Given the description of an element on the screen output the (x, y) to click on. 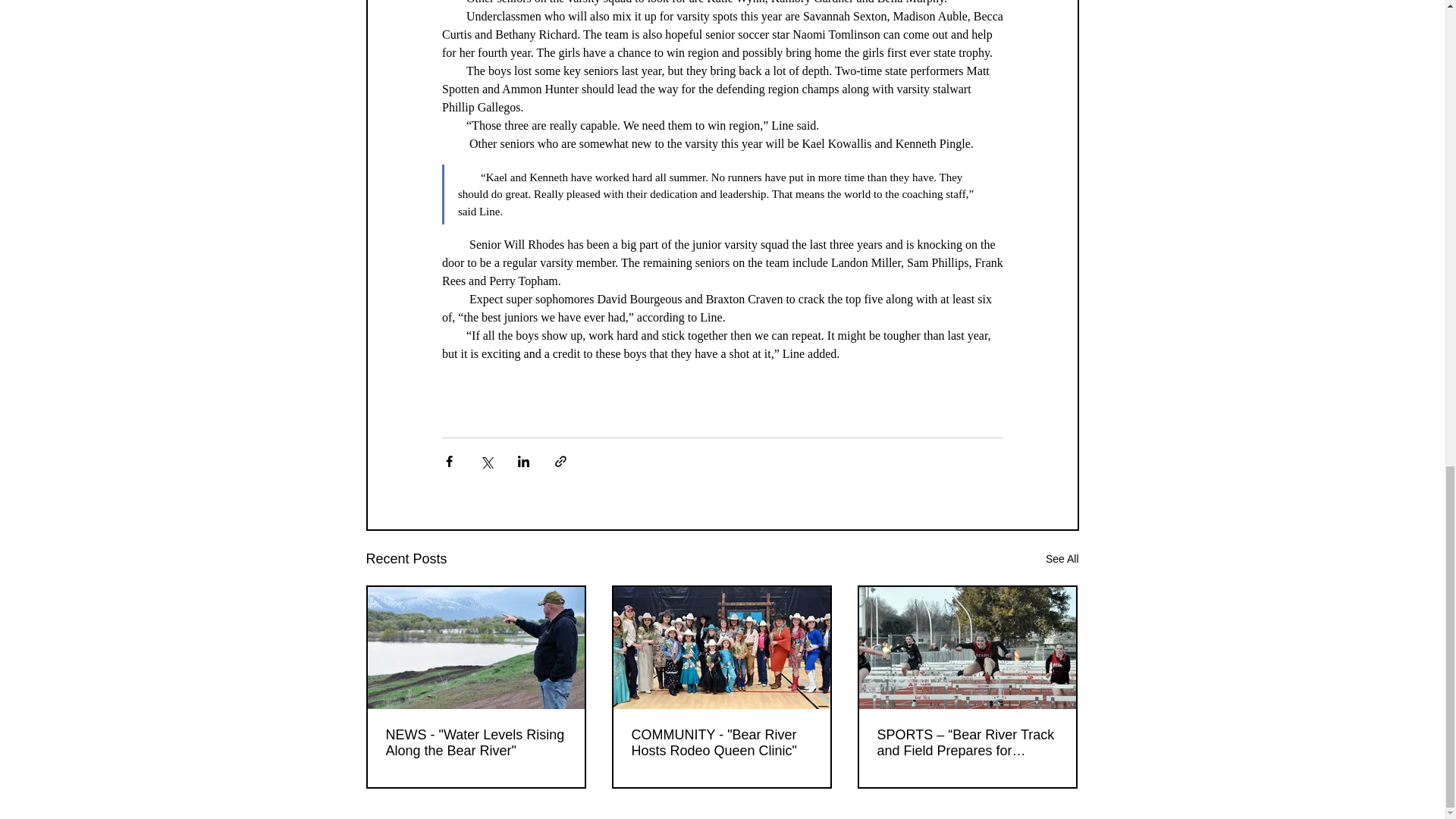
See All (1061, 558)
COMMUNITY - "Bear River Hosts Rodeo Queen Clinic" (720, 743)
NEWS - "Water Levels Rising Along the Bear River" (475, 743)
